Given the description of an element on the screen output the (x, y) to click on. 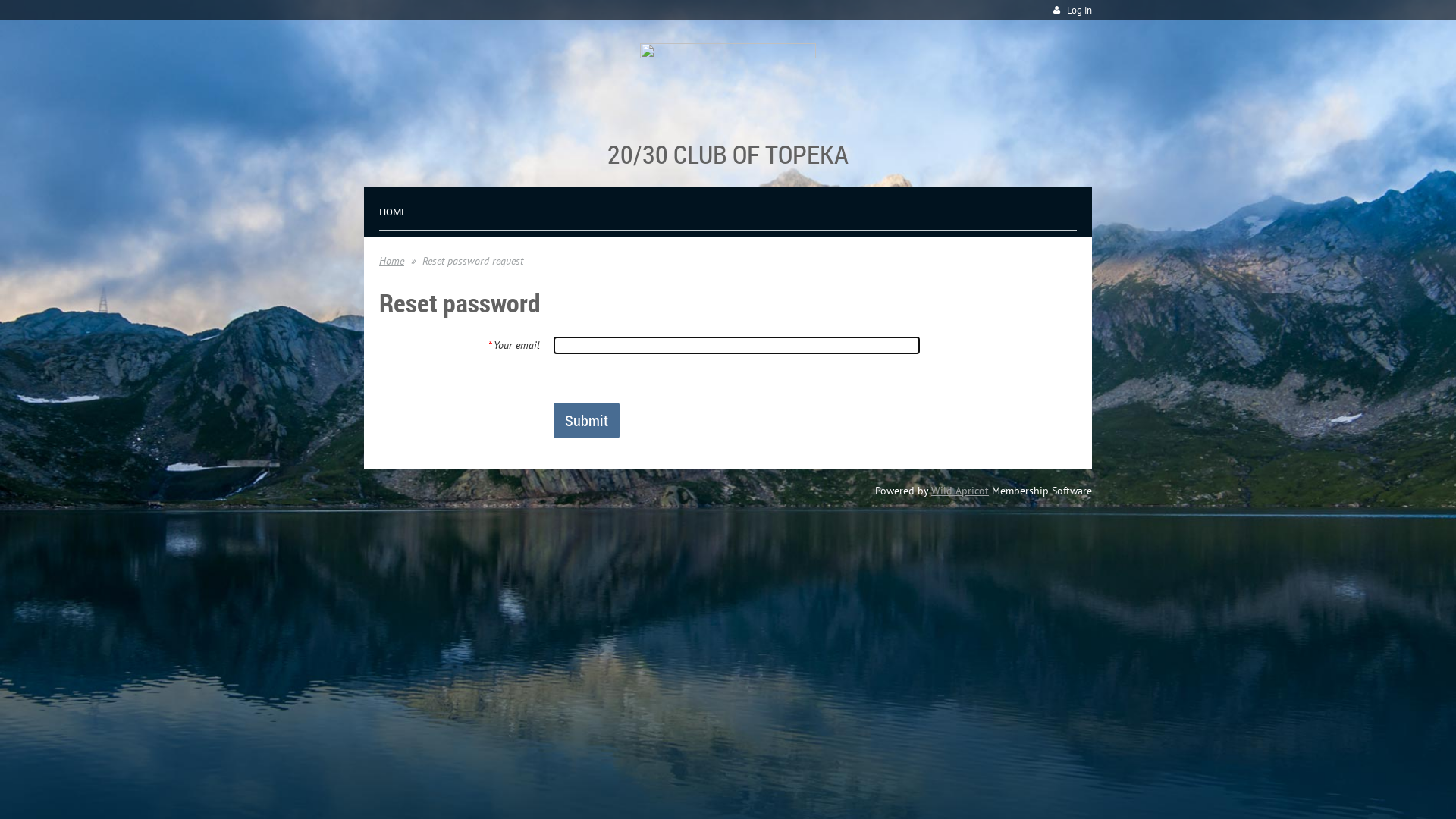
HOME Element type: text (393, 209)
Submit Element type: text (586, 420)
Log in Element type: text (1071, 9)
Wild Apricot Element type: text (959, 490)
Home Element type: text (391, 260)
